Given the description of an element on the screen output the (x, y) to click on. 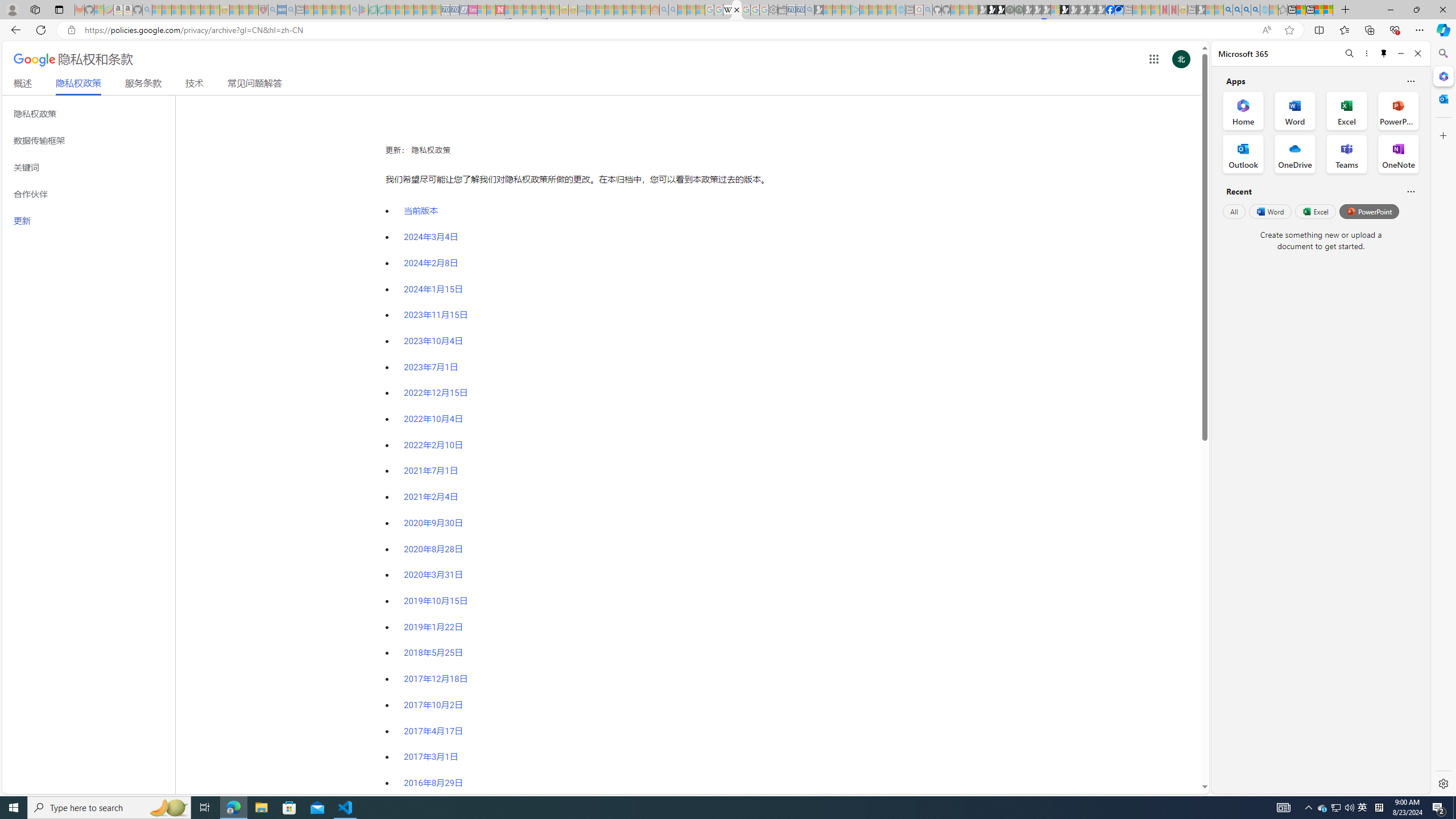
Sign in to your account - Sleeping (1054, 9)
OneDrive Office App (1295, 154)
